Given the description of an element on the screen output the (x, y) to click on. 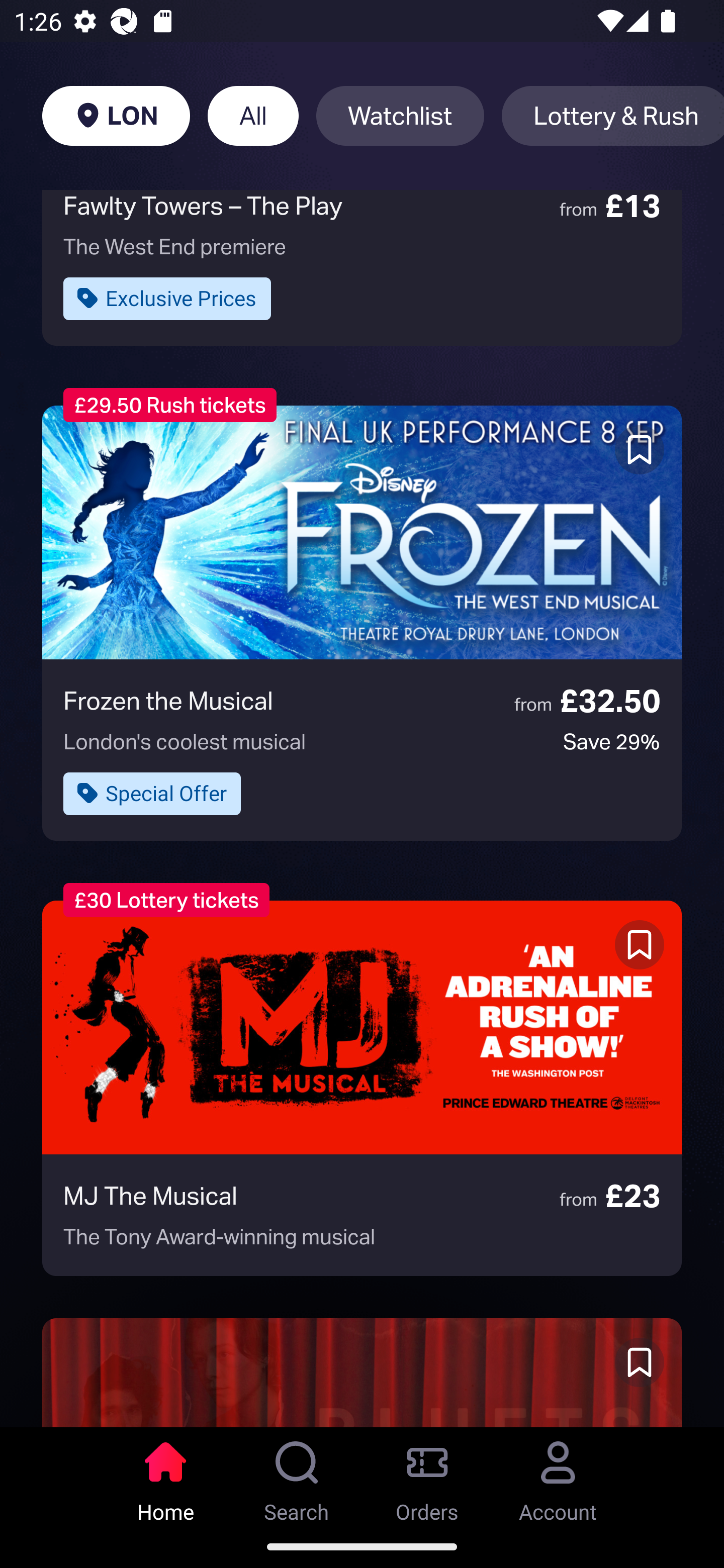
LON (115, 115)
All (252, 115)
Watchlist (400, 115)
Lottery & Rush (612, 115)
Search (296, 1475)
Orders (427, 1475)
Account (558, 1475)
